Given the description of an element on the screen output the (x, y) to click on. 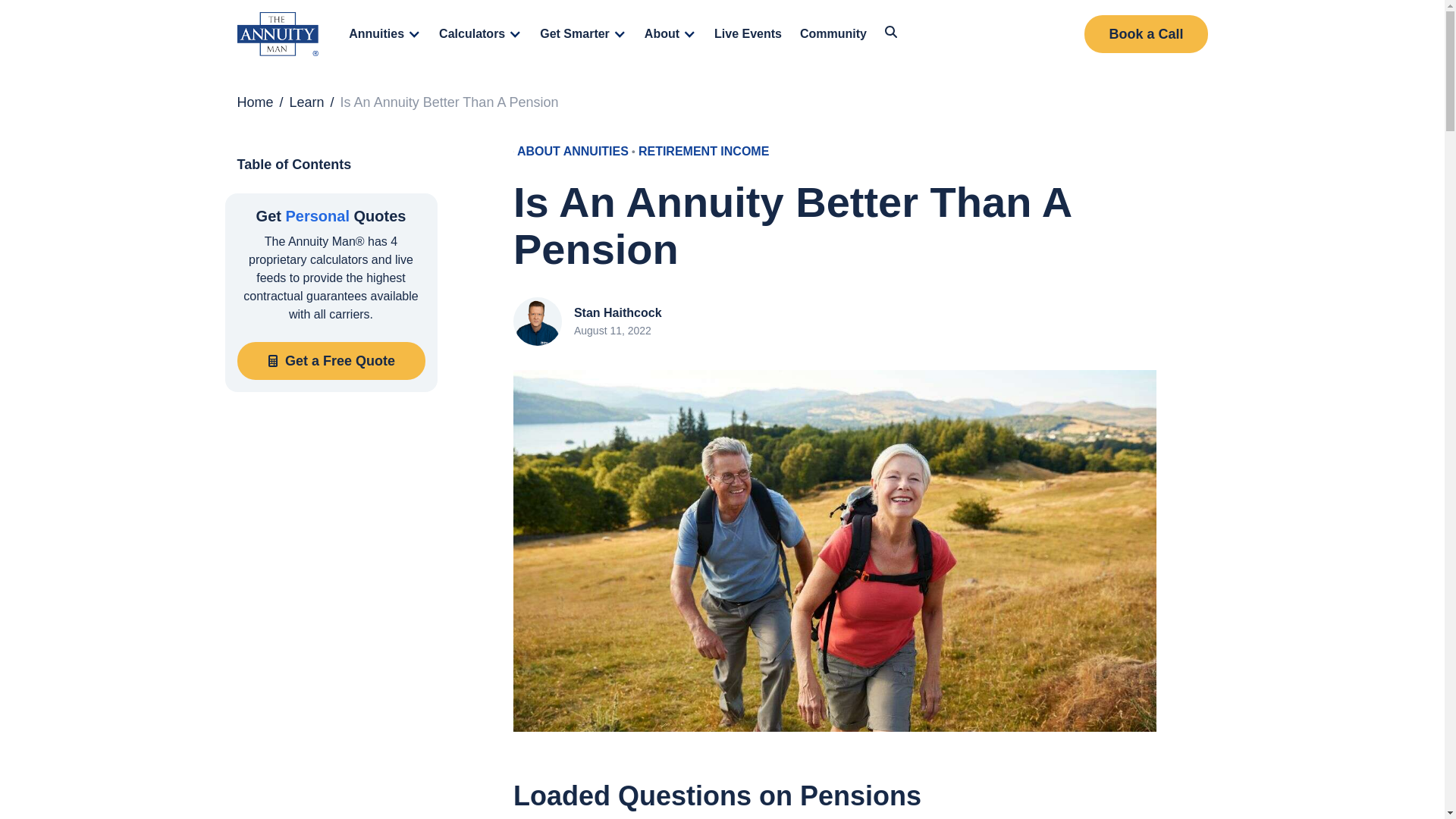
Home (254, 102)
Get a Free Quote (330, 361)
Book a Call (1145, 34)
ABOUT ANNUITIES (572, 151)
Live Events (747, 33)
Community (833, 33)
Learn (306, 102)
RETIREMENT INCOME (702, 151)
